Given the description of an element on the screen output the (x, y) to click on. 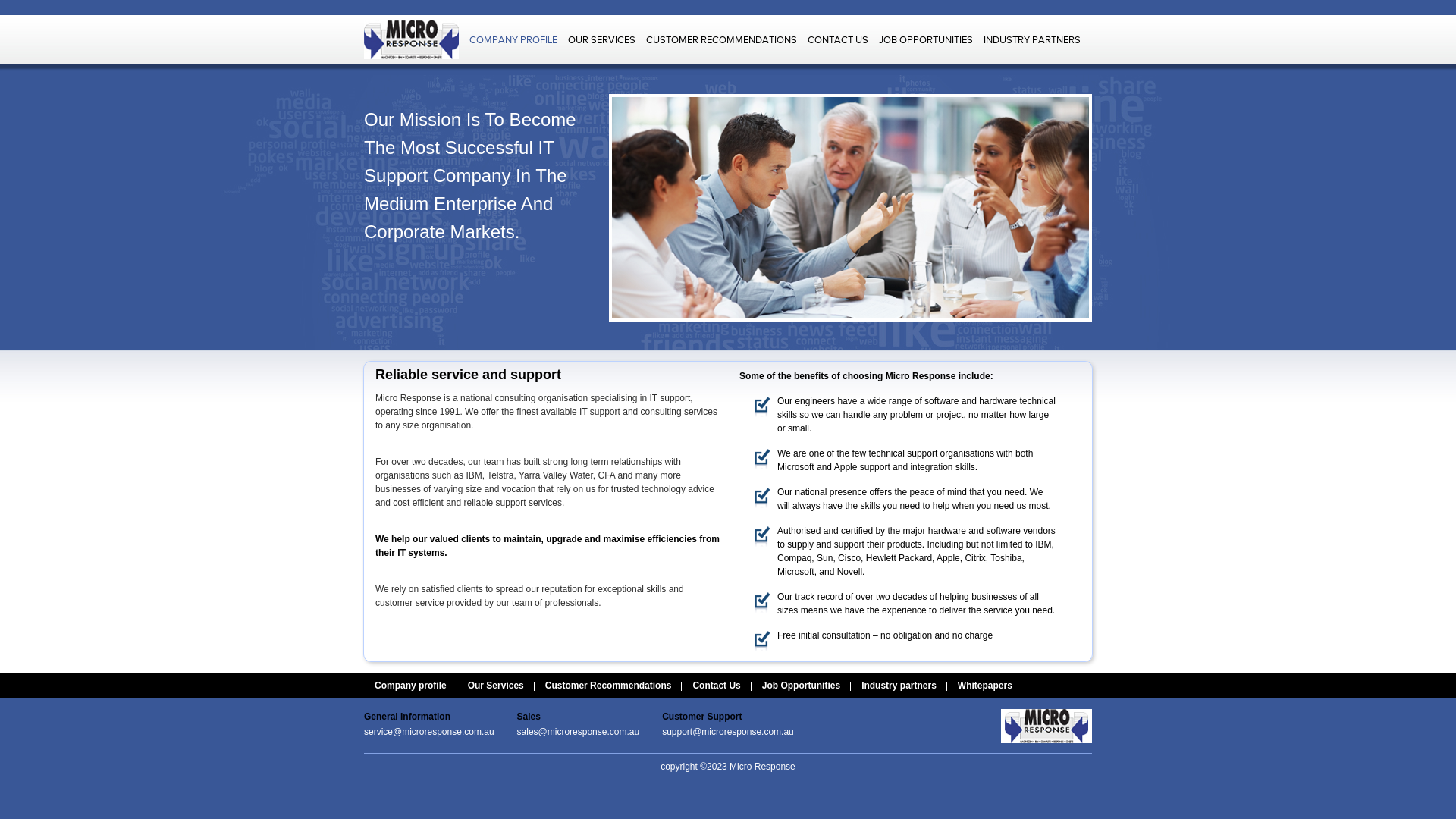
INDUSTRY PARTNERS Element type: text (1031, 40)
CONTACT US Element type: text (837, 40)
Our Services Element type: text (495, 685)
sales@microresponse.com.au Element type: text (578, 731)
support@microresponse.com.au Element type: text (727, 731)
Industry partners Element type: text (898, 685)
COMPANY PROFILE Element type: text (513, 40)
Customer Recommendations Element type: text (608, 685)
JOB OPPORTUNITIES Element type: text (925, 40)
Contact Us Element type: text (716, 685)
Company profile Element type: text (410, 685)
CUSTOMER RECOMMENDATIONS Element type: text (721, 40)
Whitepapers Element type: text (984, 685)
Job Opportunities Element type: text (801, 685)
service@microresponse.com.au Element type: text (429, 731)
OUR SERVICES Element type: text (601, 40)
